Given the description of an element on the screen output the (x, y) to click on. 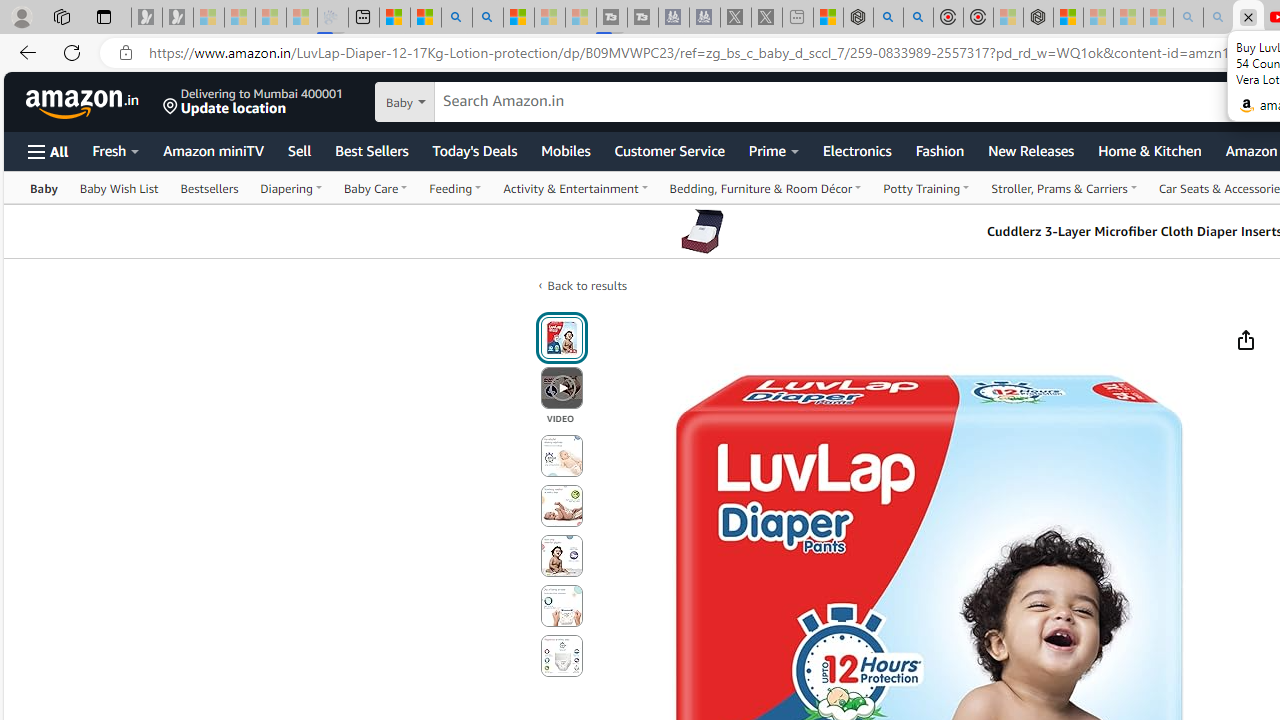
Streaming Coverage | T3 - Sleeping (611, 17)
New tab - Sleeping (797, 17)
Wildlife - MSN (828, 17)
Amazon Echo Dot PNG - Search Images - Sleeping (1218, 17)
